Given the description of an element on the screen output the (x, y) to click on. 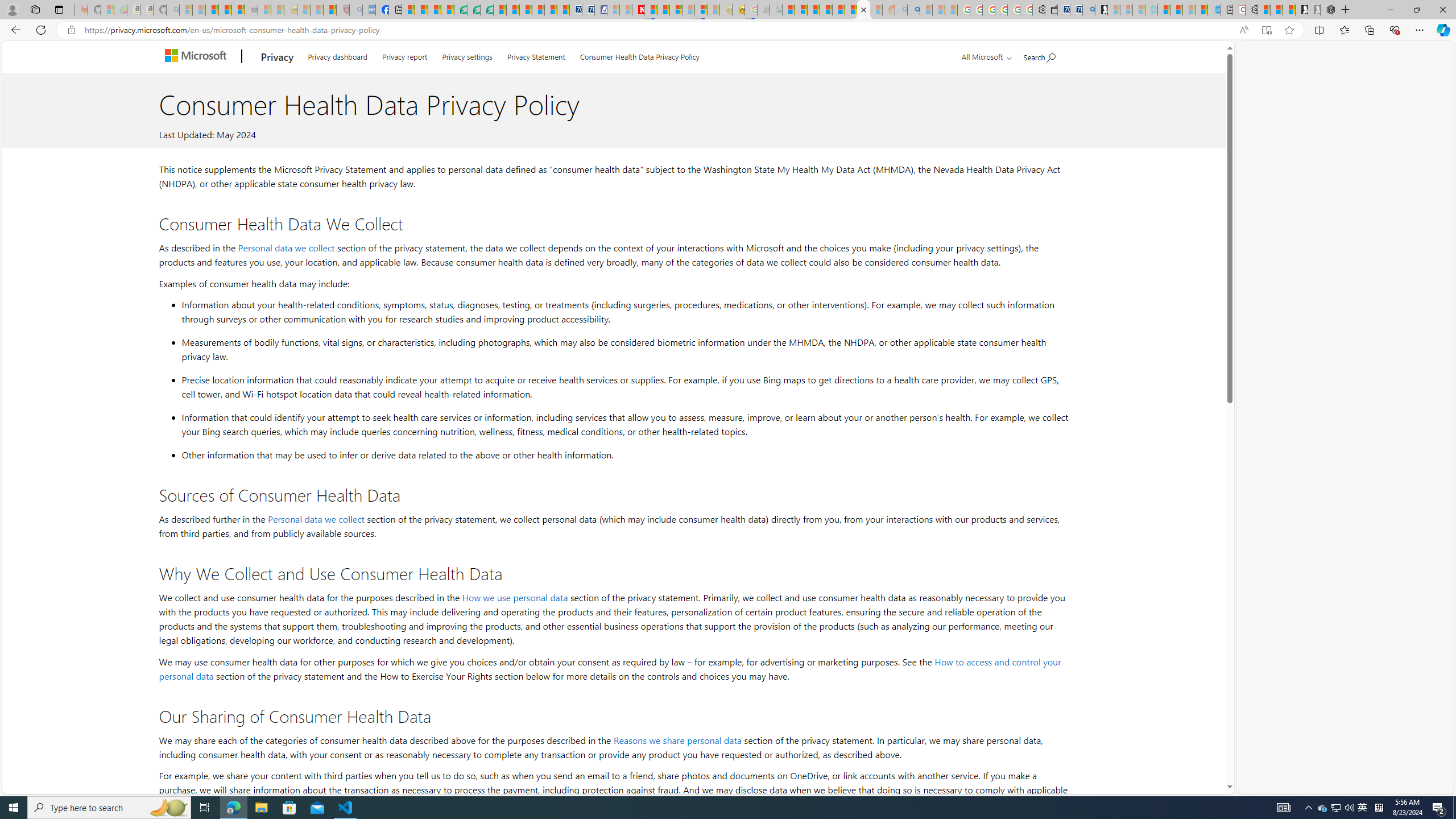
Privacy dashboard (337, 54)
Search Microsoft.com (1039, 54)
Wallet (1050, 9)
